Given the description of an element on the screen output the (x, y) to click on. 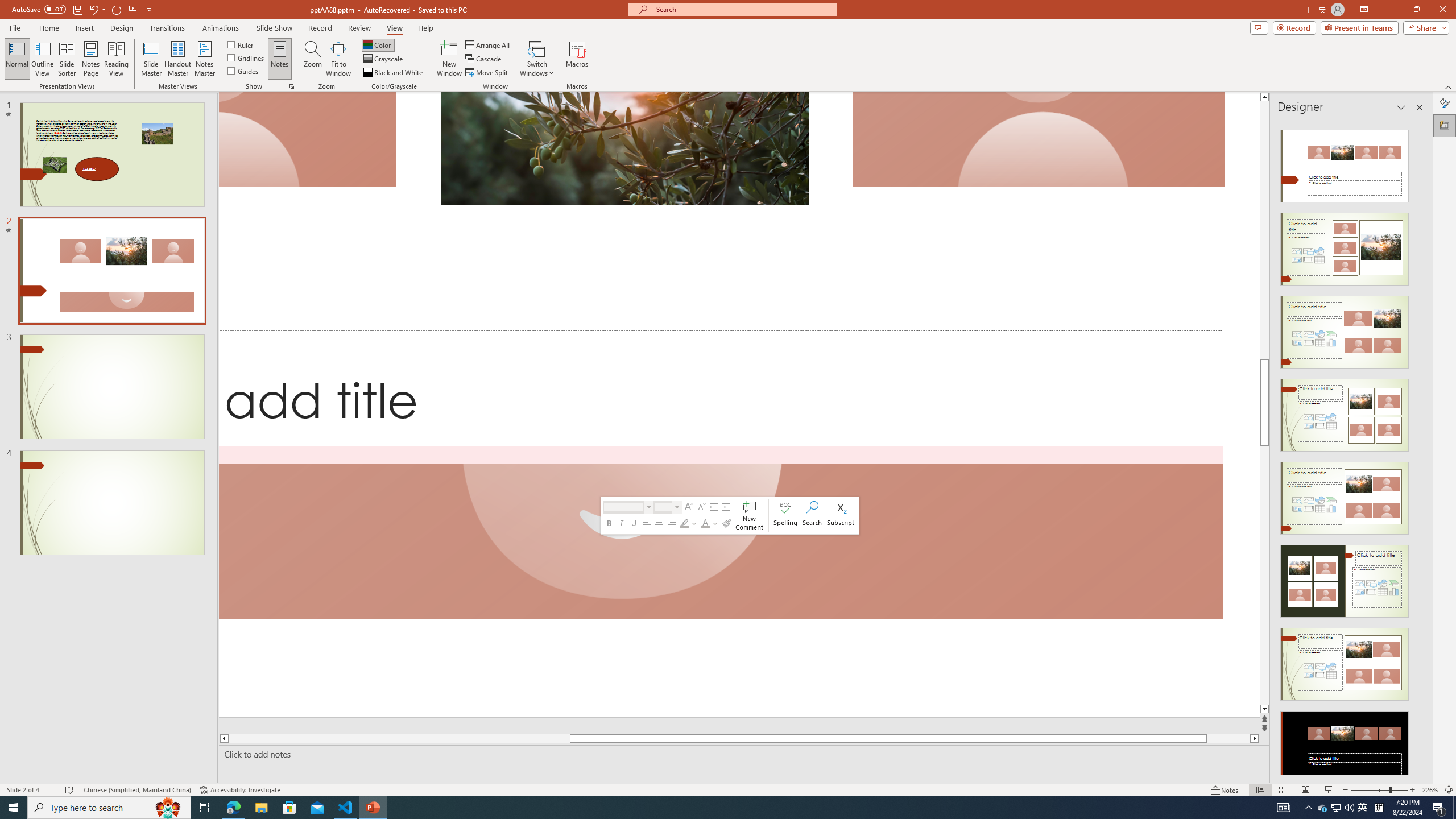
Gridlines (246, 56)
Class: NetUITextbox (663, 506)
Ruler (241, 44)
Notes (279, 58)
Decorative Locked (738, 403)
